Given the description of an element on the screen output the (x, y) to click on. 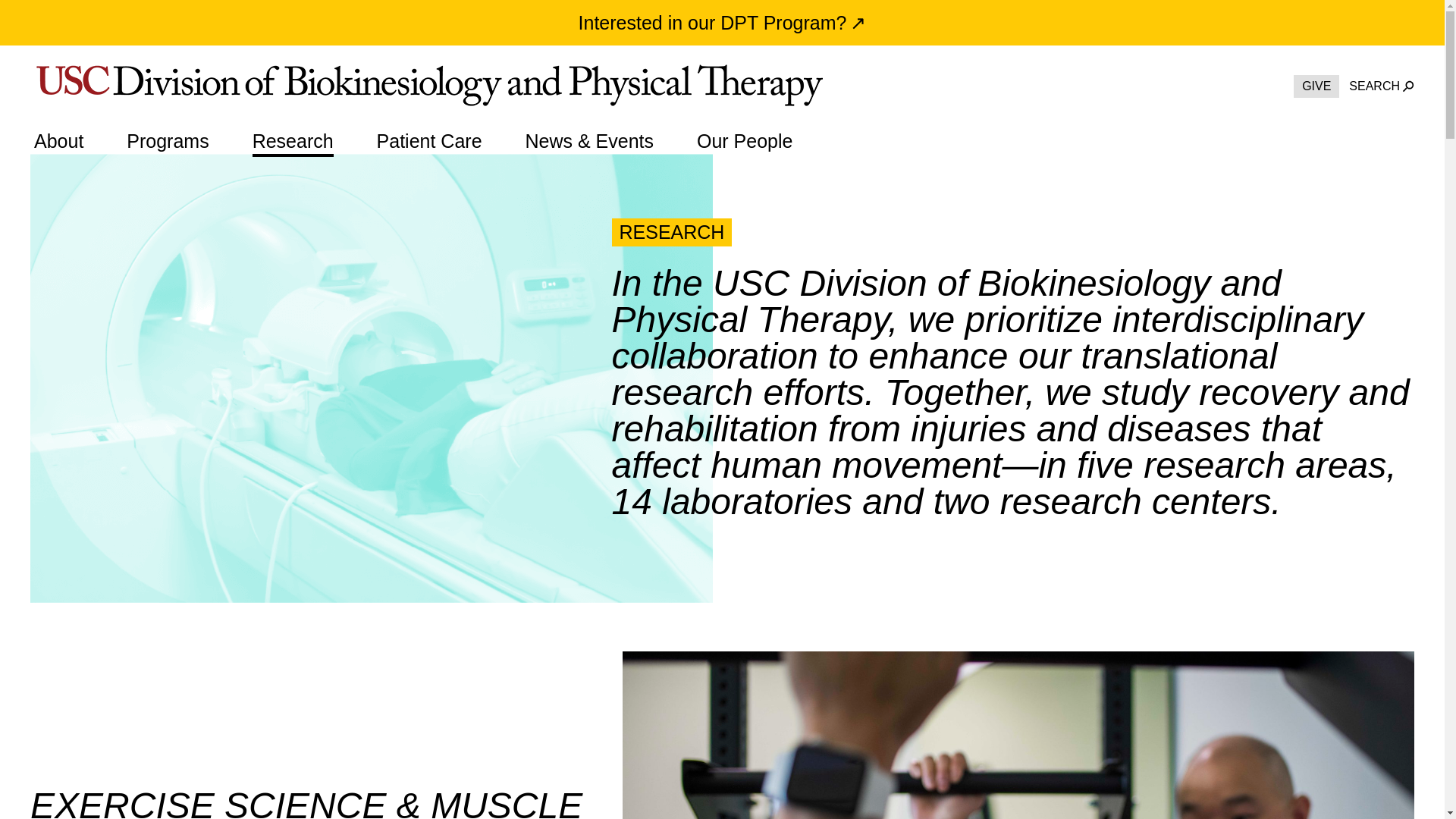
Interested in our DPT Program? (722, 22)
Programs (167, 140)
Patient Care (429, 140)
Research (292, 140)
SEARCH (1381, 86)
About (57, 140)
GIVE (1316, 85)
